Given the description of an element on the screen output the (x, y) to click on. 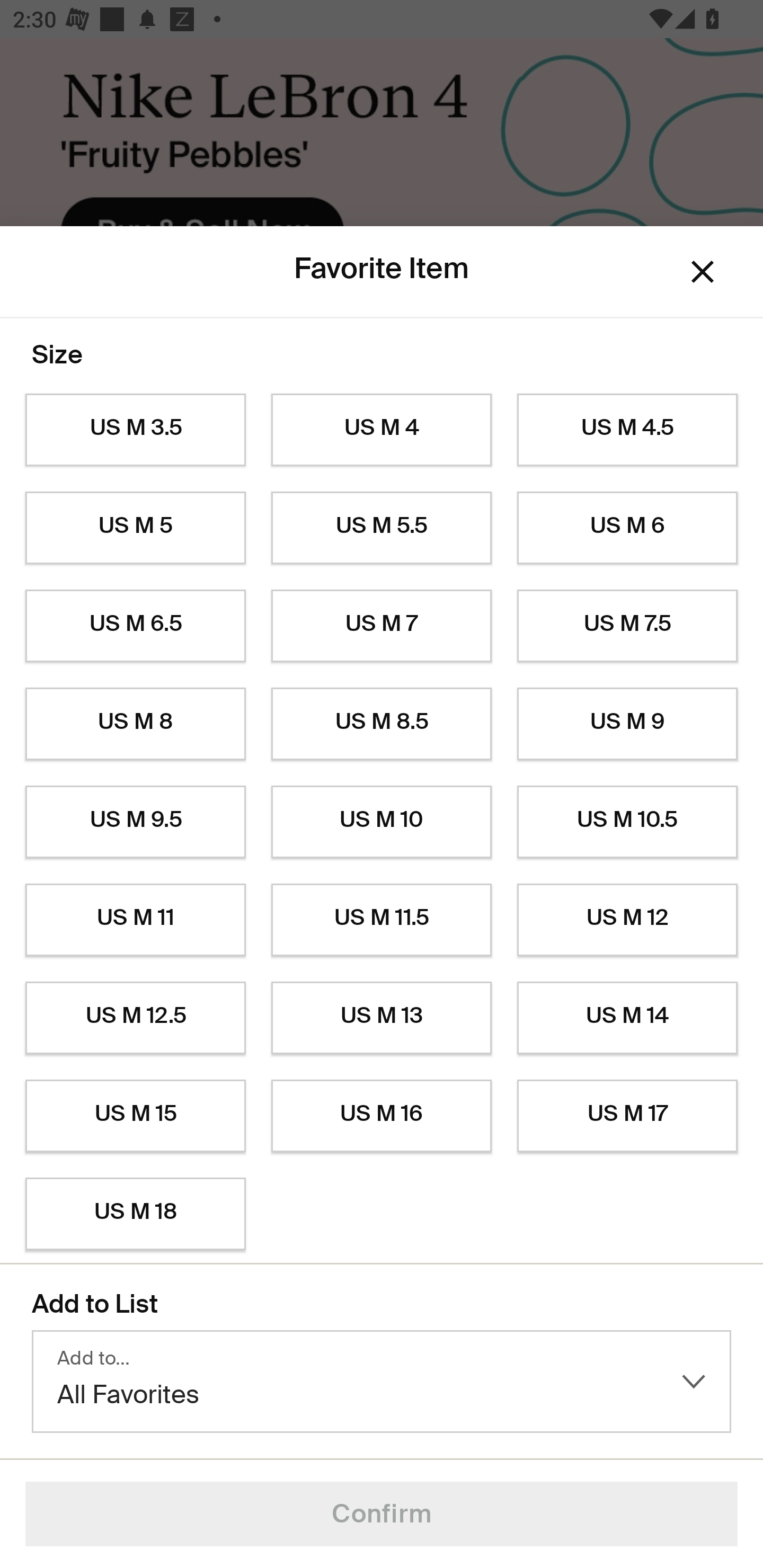
Dismiss (702, 271)
US M 3.5 (135, 430)
US M 4 (381, 430)
US M 4.5 (627, 430)
US M 5 (135, 527)
US M 5.5 (381, 527)
US M 6 (627, 527)
US M 6.5 (135, 626)
US M 7 (381, 626)
US M 7.5 (627, 626)
US M 8 (135, 724)
US M 8.5 (381, 724)
US M 9 (627, 724)
US M 9.5 (135, 822)
US M 10 (381, 822)
US M 10.5 (627, 822)
US M 11 (135, 919)
US M 11.5 (381, 919)
US M 12 (627, 919)
US M 12.5 (135, 1018)
US M 13 (381, 1018)
US M 14 (627, 1018)
US M 15 (135, 1116)
US M 16 (381, 1116)
US M 17 (627, 1116)
US M 18 (135, 1214)
Add to… All Favorites (381, 1381)
Confirm (381, 1513)
